Given the description of an element on the screen output the (x, y) to click on. 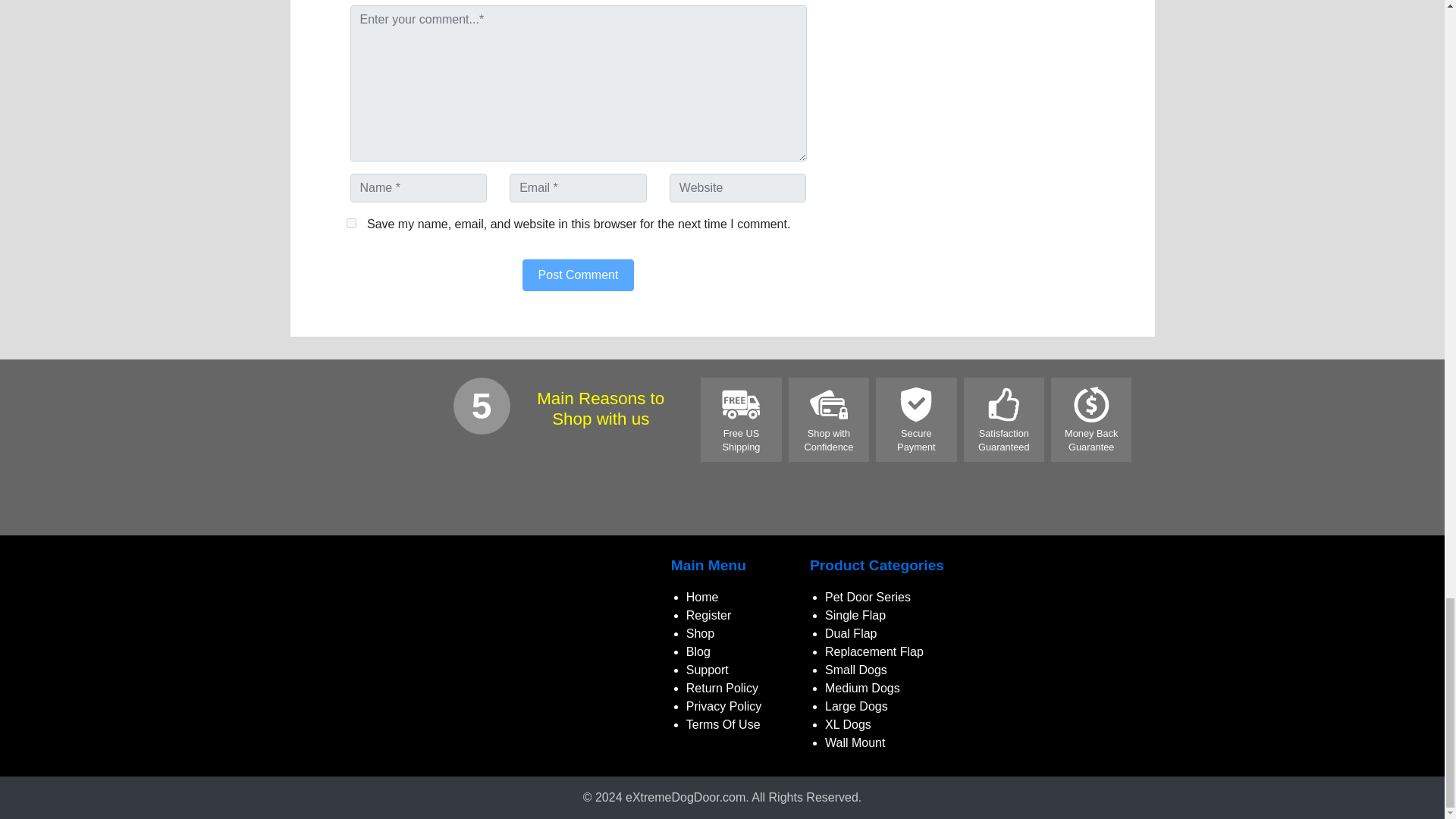
yes (350, 223)
Post Comment (578, 275)
Post Comment (578, 275)
